Given the description of an element on the screen output the (x, y) to click on. 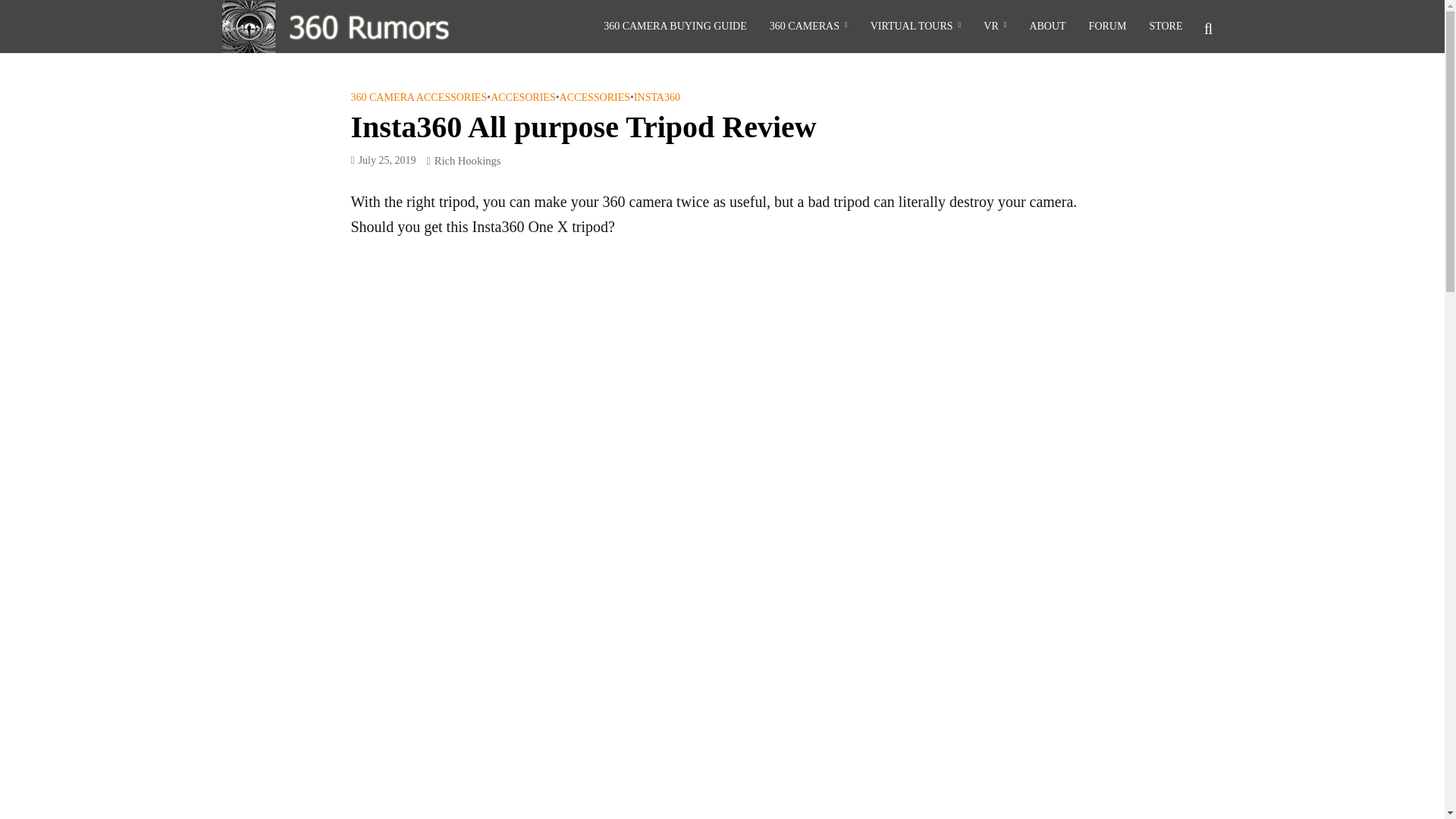
YouTube video (721, 738)
360 CAMERAS (808, 26)
360 CAMERA BUYING GUIDE (675, 26)
VIRTUAL TOURS (915, 26)
STORE (1165, 26)
FORUM (1107, 26)
VR (994, 26)
ABOUT (1047, 26)
